Given the description of an element on the screen output the (x, y) to click on. 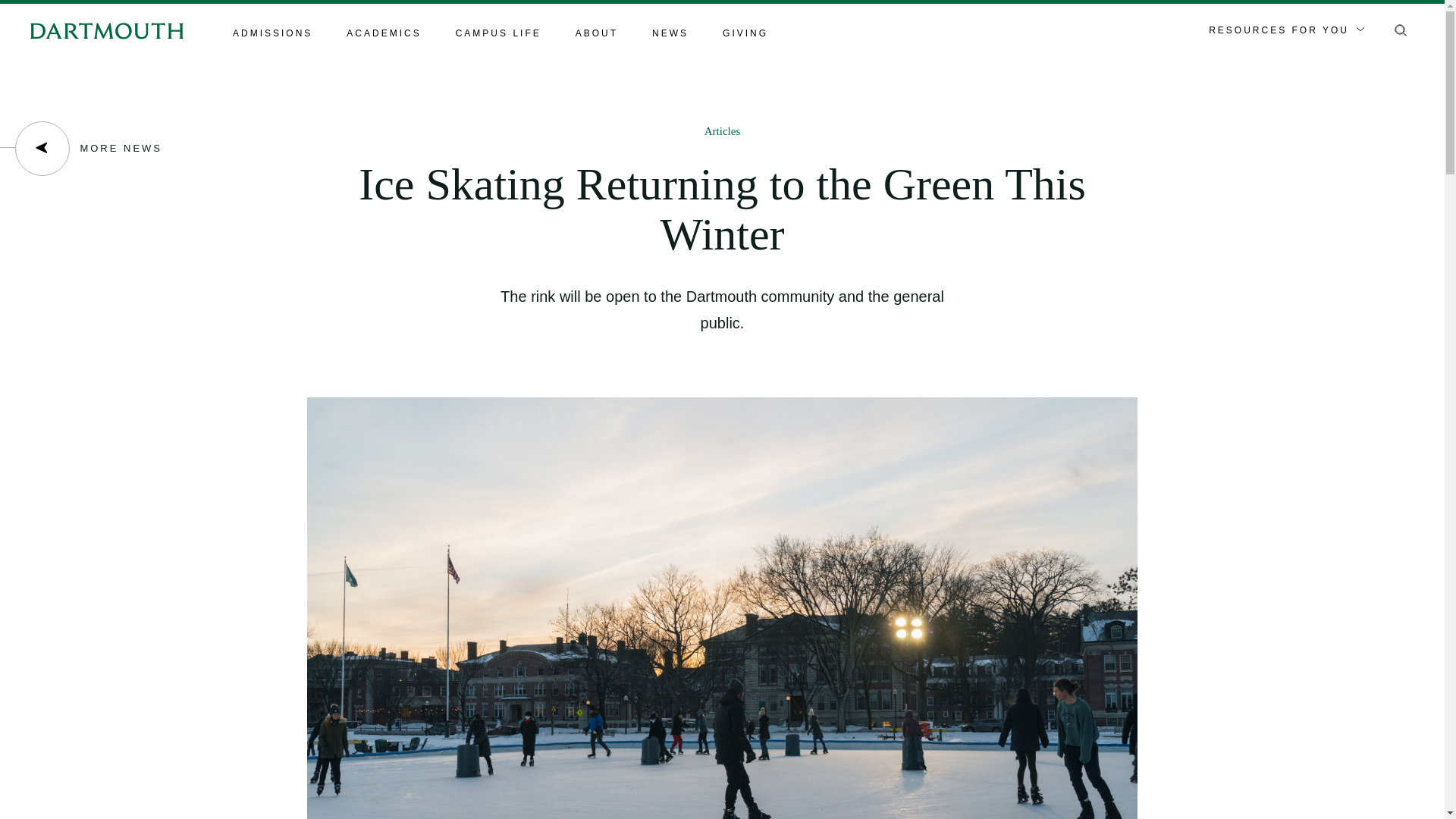
Admissions (272, 33)
ACADEMICS (383, 33)
Academics (383, 33)
CAMPUS LIFE (498, 33)
ADMISSIONS (272, 33)
Home (106, 29)
ABOUT (596, 33)
Home (106, 29)
